Given the description of an element on the screen output the (x, y) to click on. 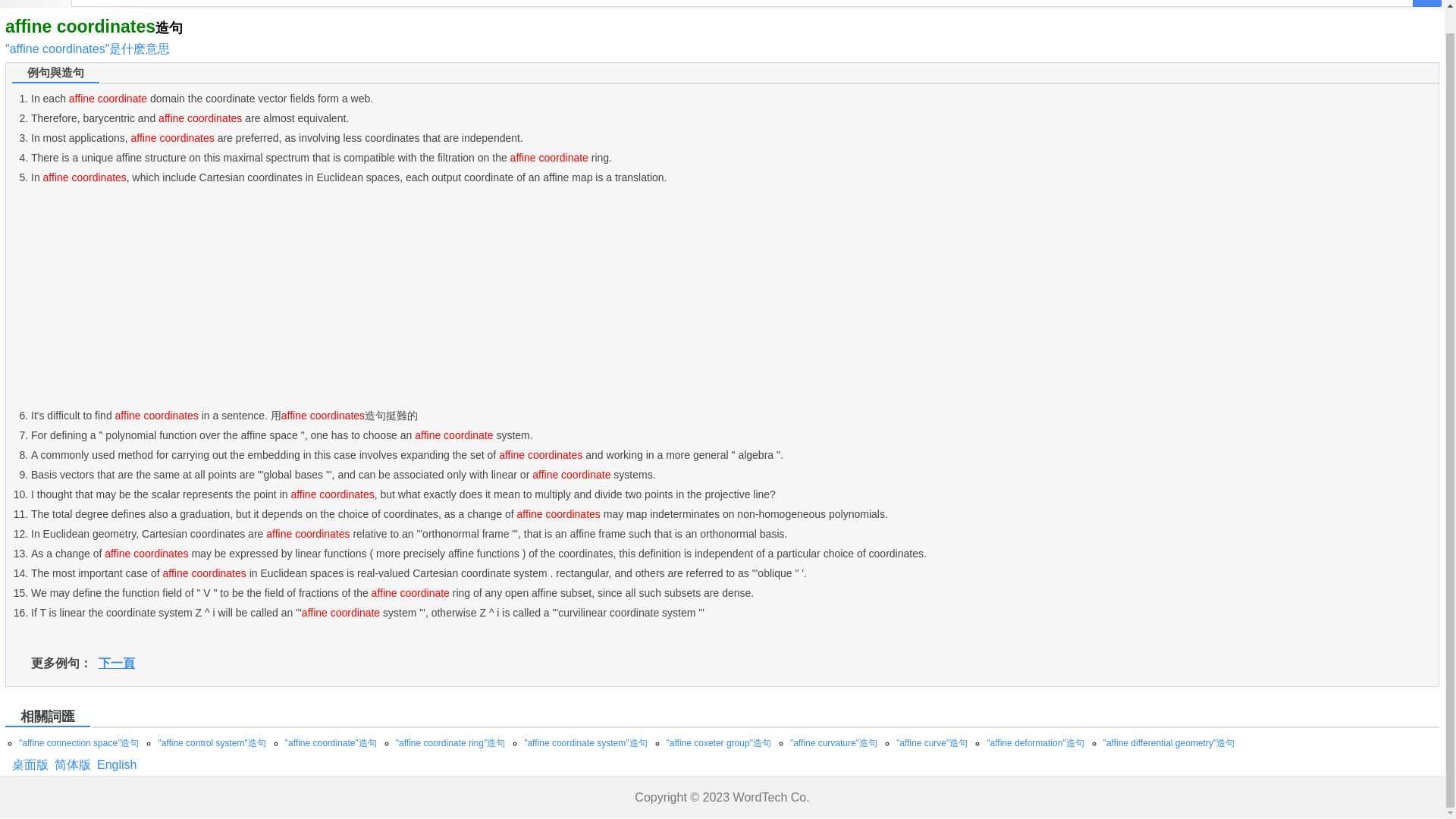
English (116, 764)
affine coordinates in a sentence (116, 764)
WordTech (760, 797)
